Given the description of an element on the screen output the (x, y) to click on. 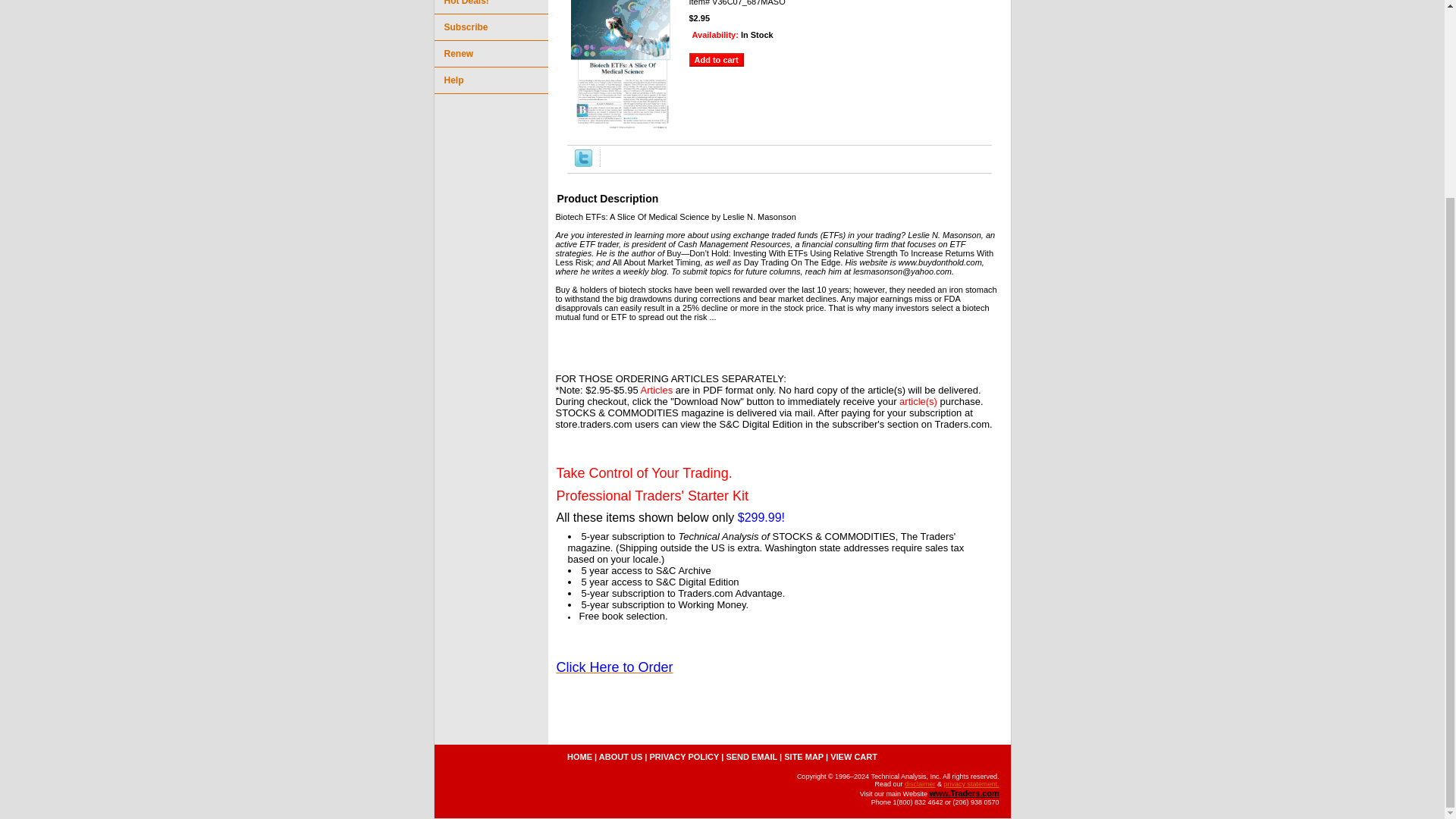
SEND EMAIL (751, 756)
Click Here to Order (614, 668)
Hot Deals! (490, 7)
Help (490, 80)
Tweet (583, 163)
Help (490, 80)
ABOUT US (620, 756)
privacy statement. (970, 783)
disclaimer (920, 783)
Add to cart (715, 59)
